Given the description of an element on the screen output the (x, y) to click on. 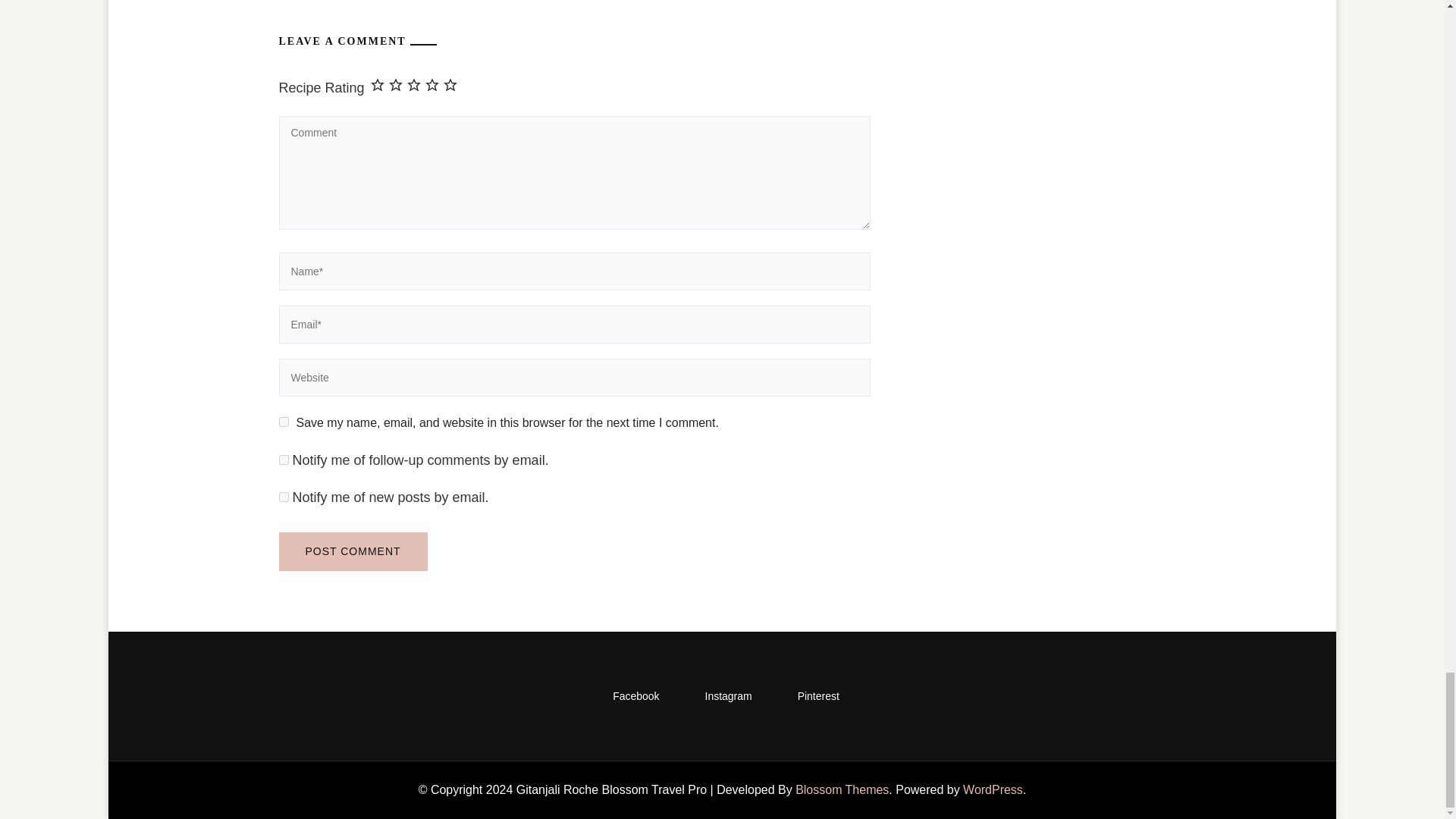
subscribe (283, 460)
Post Comment (353, 551)
yes (283, 421)
subscribe (283, 497)
